Given the description of an element on the screen output the (x, y) to click on. 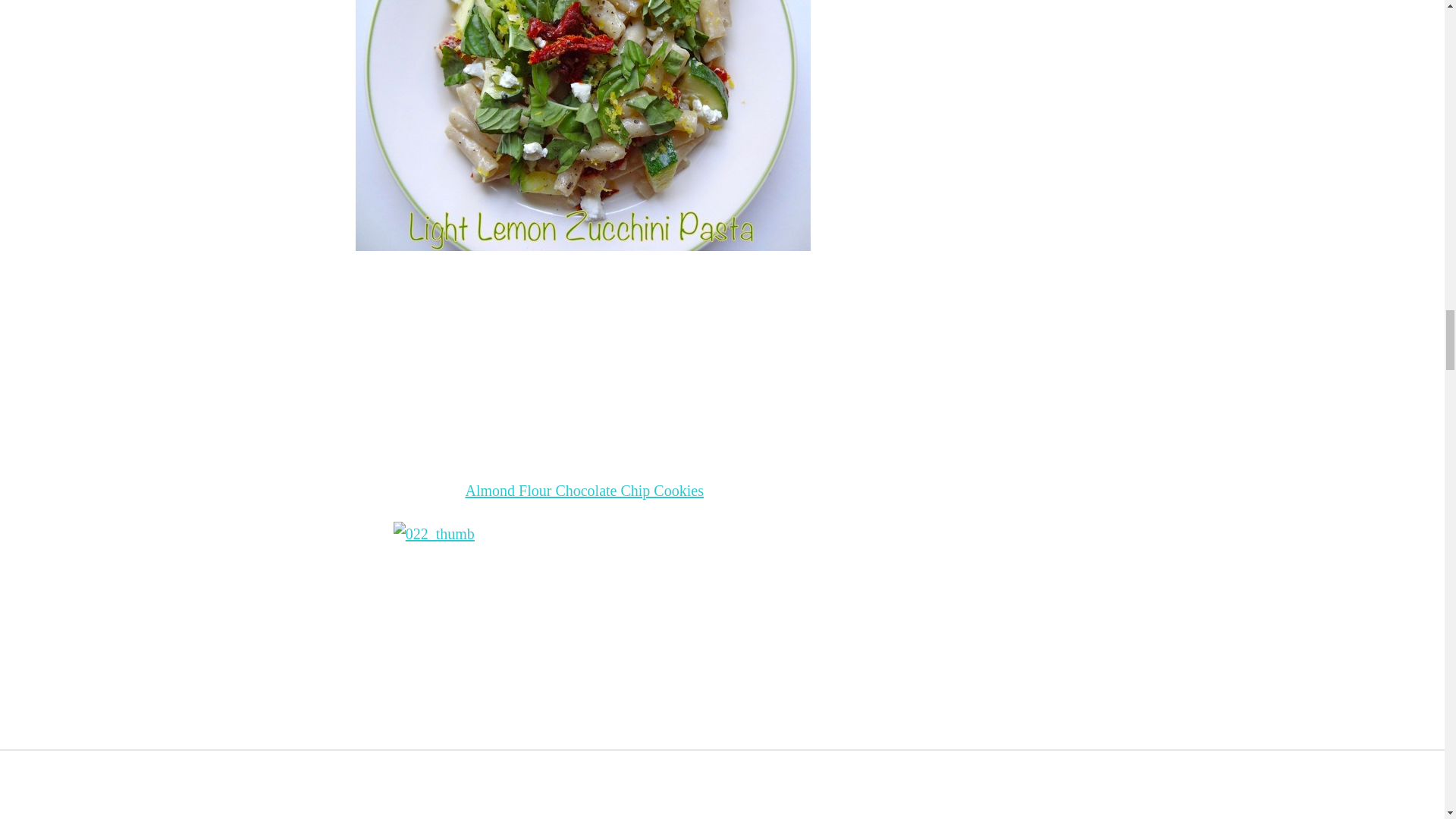
DSC00781-001 (582, 125)
